Given the description of an element on the screen output the (x, y) to click on. 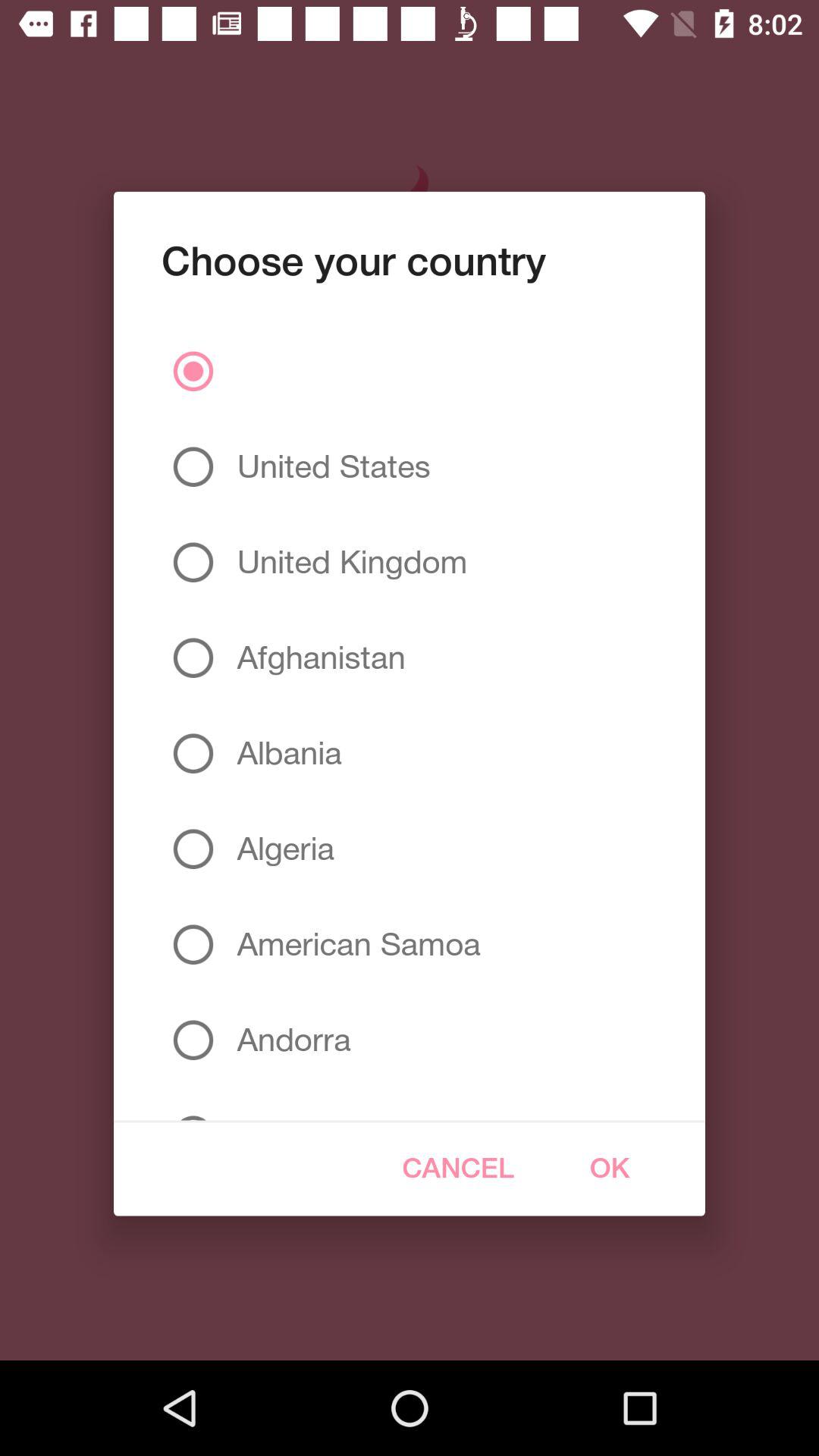
select icon to the right of cancel icon (609, 1167)
